Given the description of an element on the screen output the (x, y) to click on. 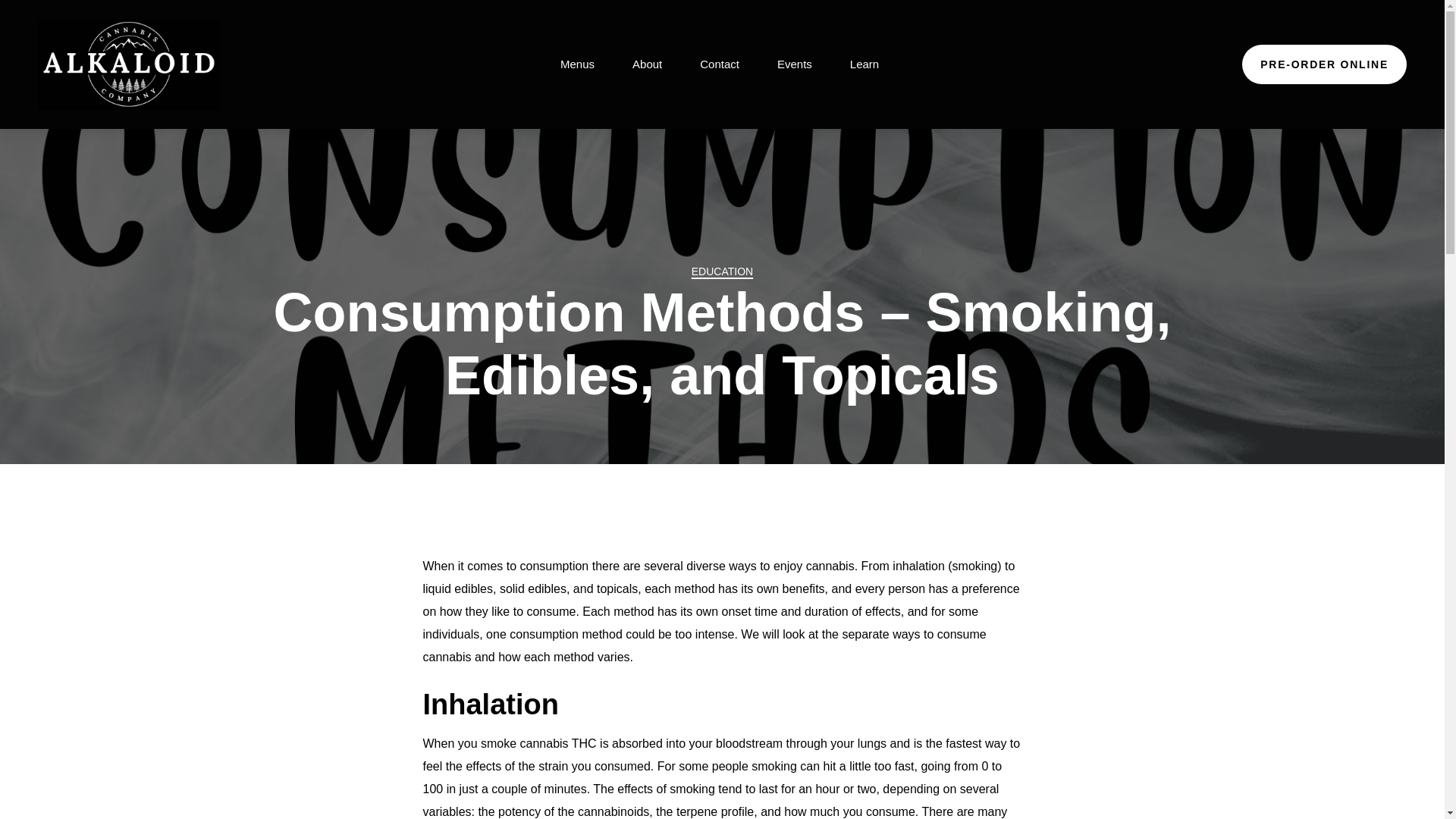
Menus (576, 63)
About (646, 63)
EDUCATION (721, 271)
home (128, 63)
Events (794, 63)
Contact (719, 63)
Learn (864, 63)
PRE-ORDER ONLINE (1323, 64)
